Given the description of an element on the screen output the (x, y) to click on. 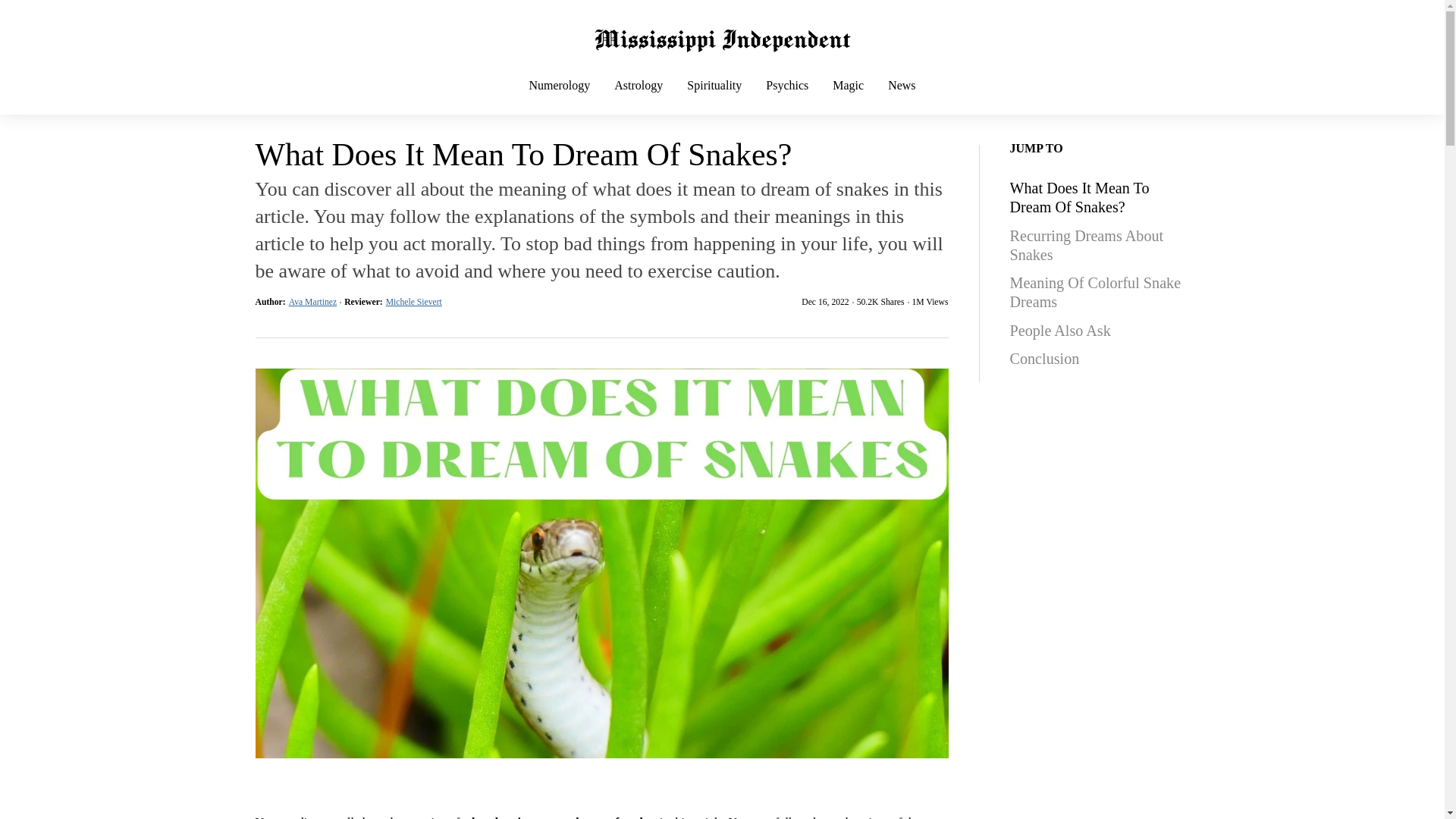
Numerology (559, 97)
Magic (848, 97)
Astrology (638, 97)
Spirituality (714, 97)
Psychics (787, 97)
